Given the description of an element on the screen output the (x, y) to click on. 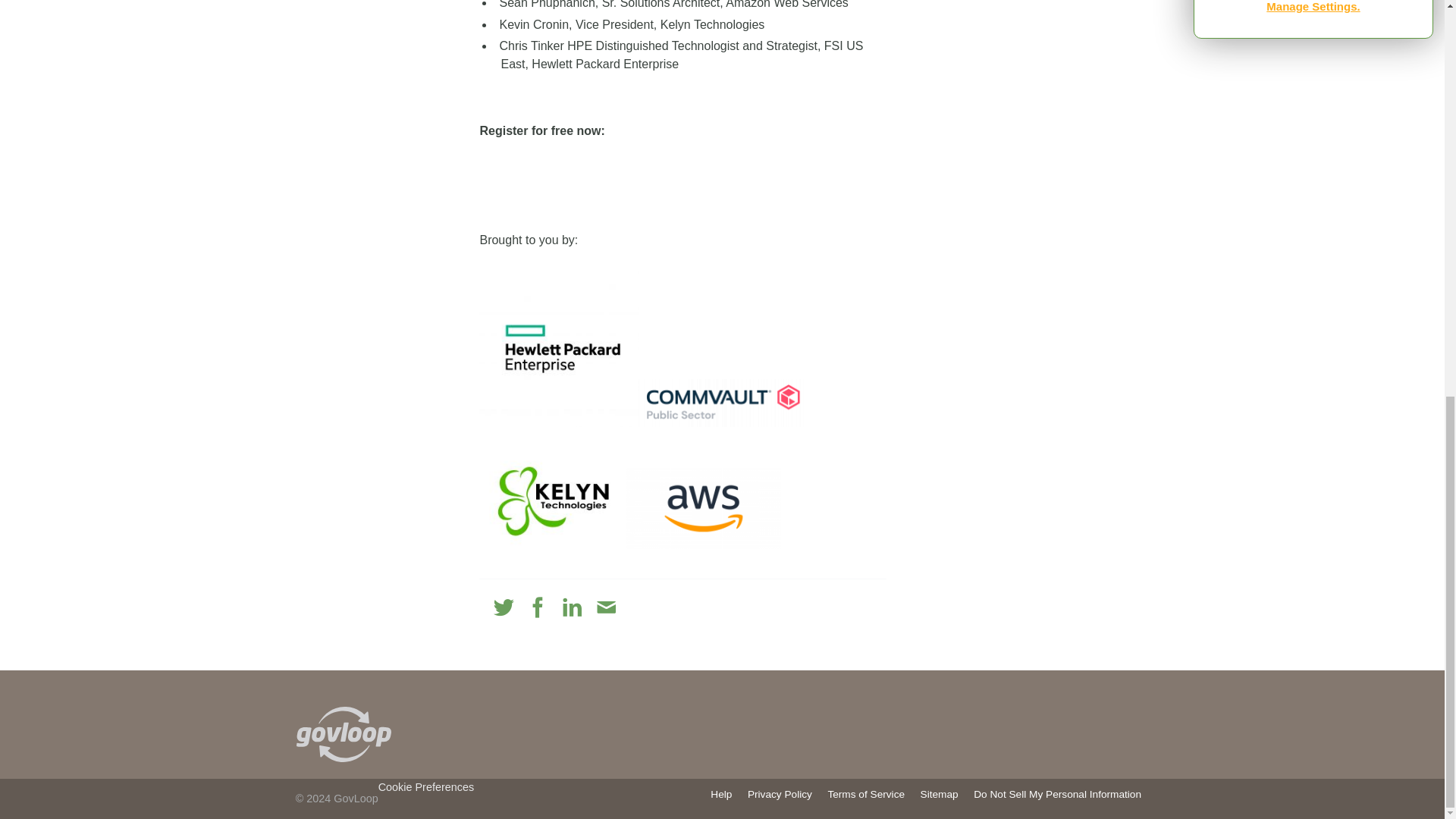
Twitter (503, 607)
Facebook (537, 607)
Email (605, 607)
Print (640, 607)
Linkedin (572, 607)
